Given the description of an element on the screen output the (x, y) to click on. 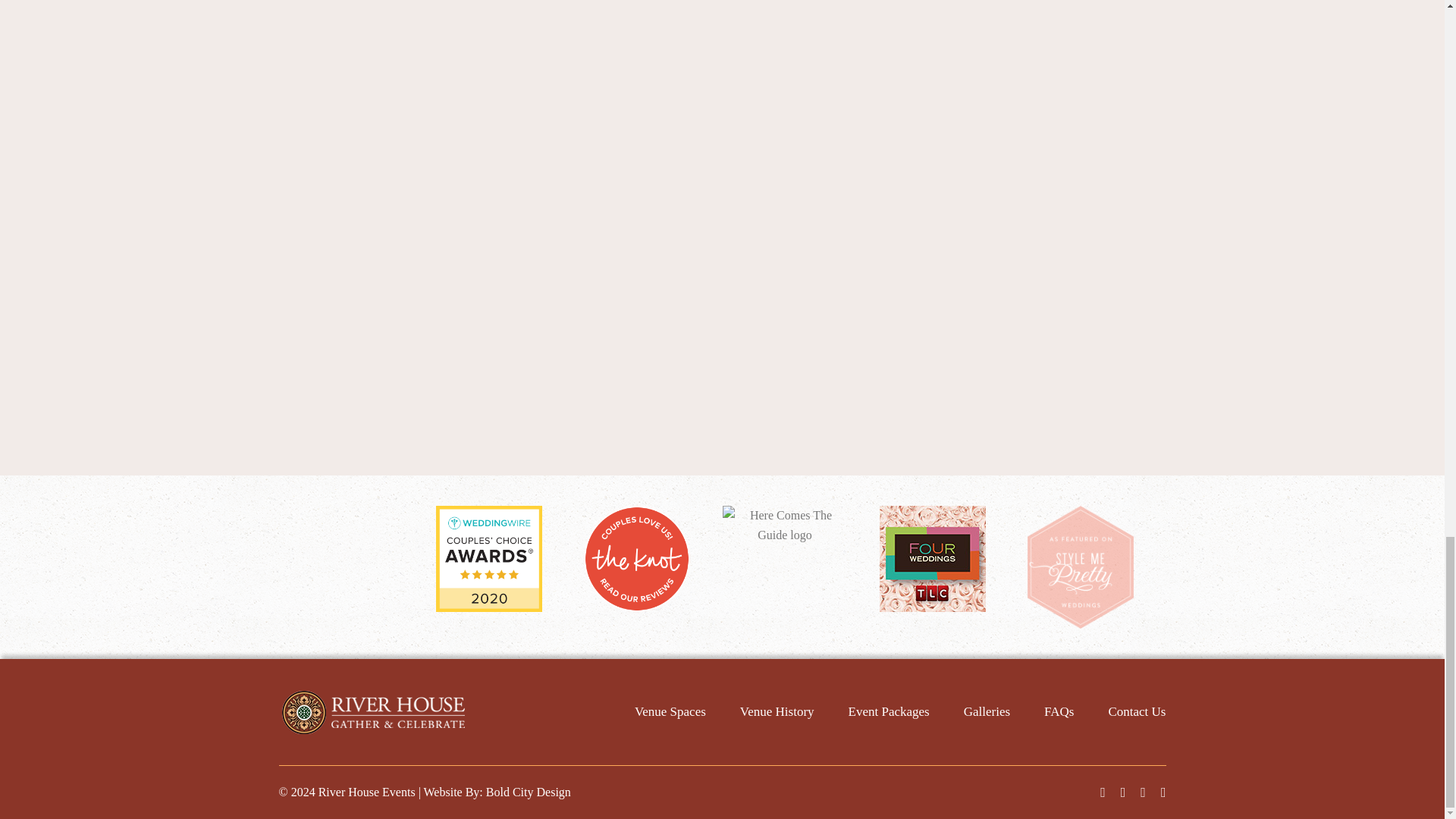
WeddingWire Couples' Choice Award Winner 2020 (488, 557)
Here Comes The Guide Wedding Venues and Vendors (784, 525)
